Given the description of an element on the screen output the (x, y) to click on. 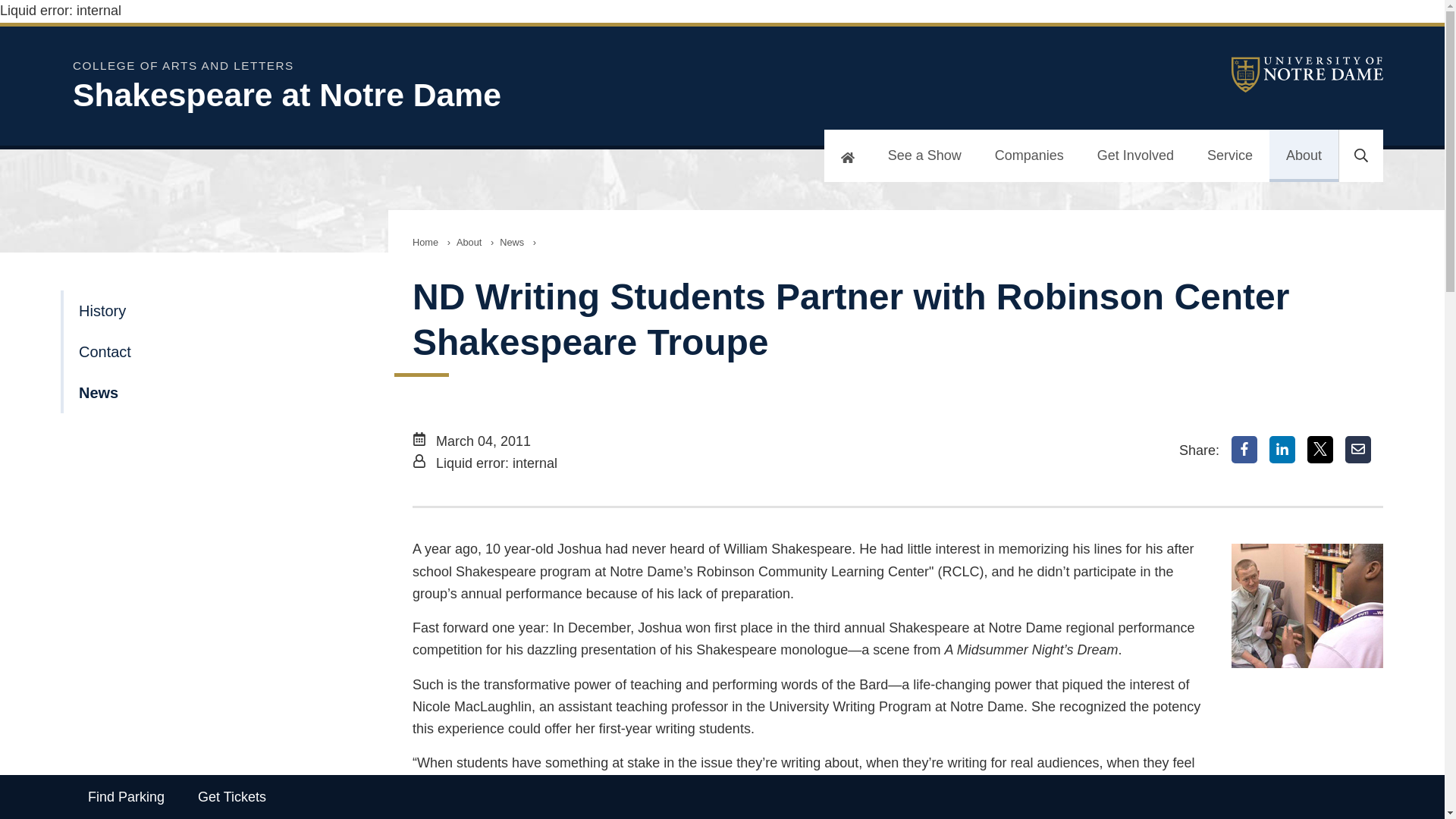
About (468, 242)
About (1303, 155)
News (511, 242)
Email (1358, 449)
University of Notre Dame (1307, 74)
LinkedIn (1282, 449)
Notre Dame and Robinson Center students (1307, 605)
Home (425, 242)
Companies (1029, 155)
Facebook (1244, 449)
Service (1230, 155)
Get Involved (1135, 155)
Shakespeare at Notre Dame (466, 95)
See a Show (924, 155)
